Given the description of an element on the screen output the (x, y) to click on. 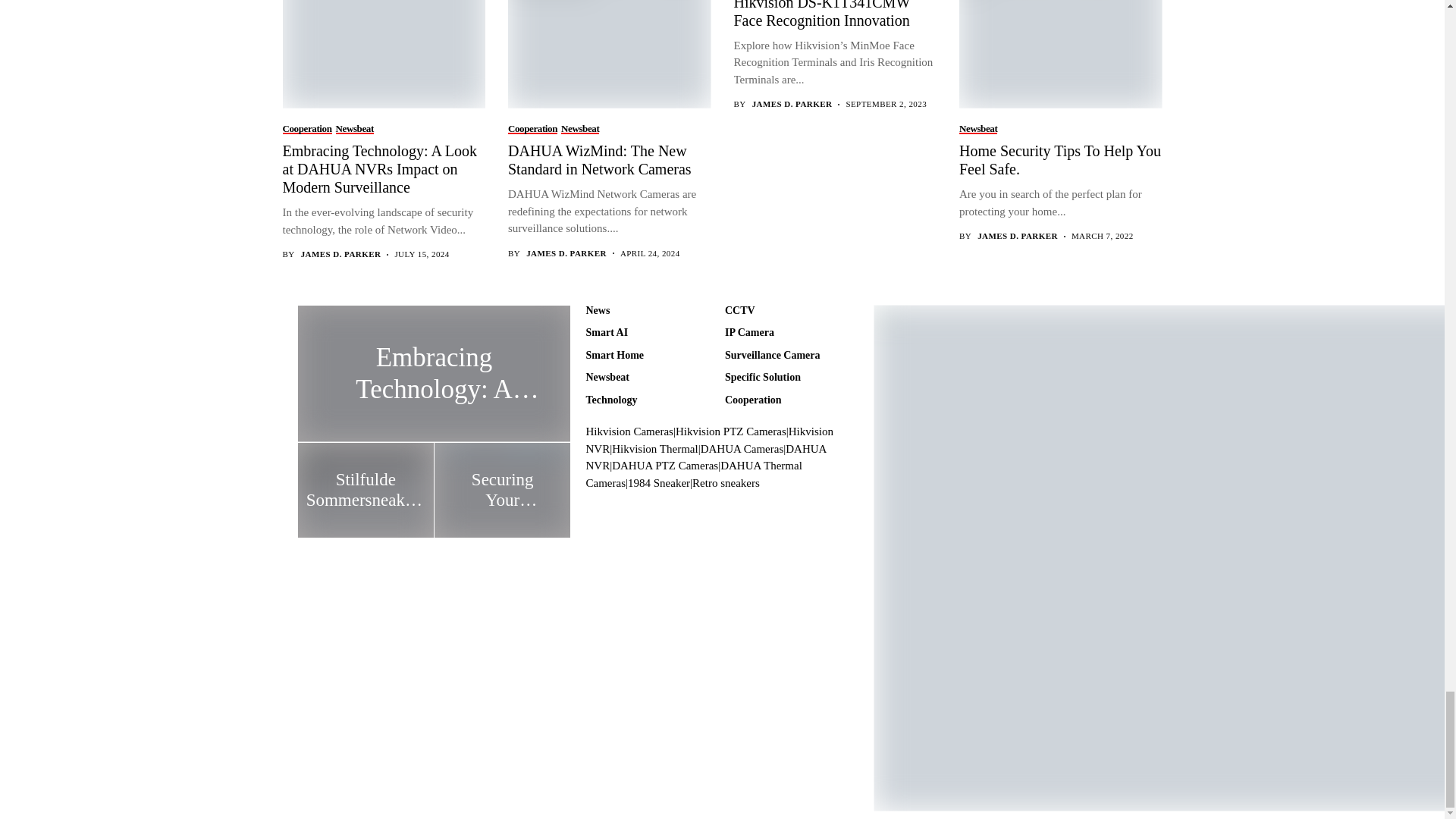
DAHUA WizMind: The New Standard in Network Cameras (608, 53)
Posts by James D. Parker (341, 254)
